Given the description of an element on the screen output the (x, y) to click on. 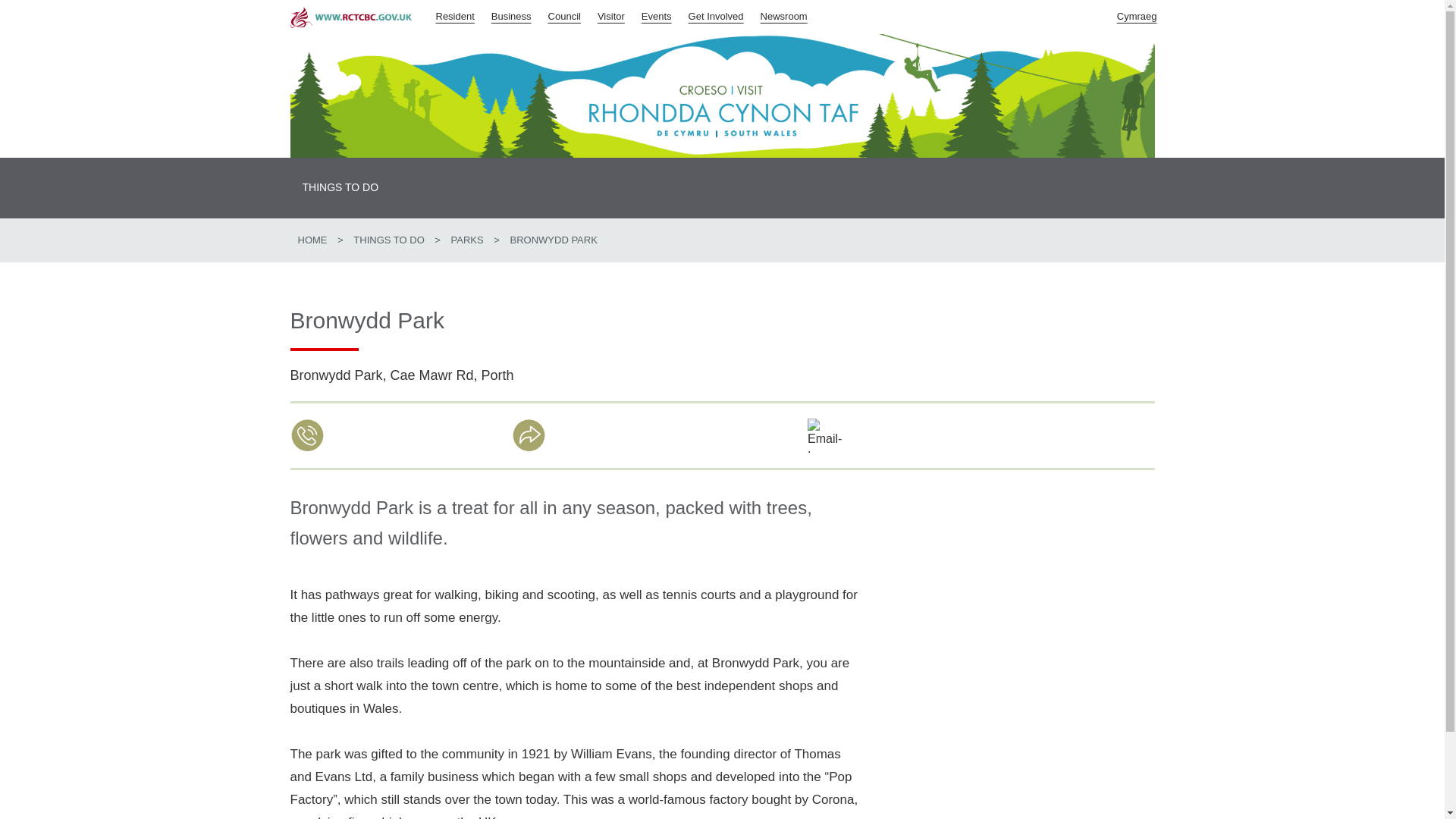
Events (657, 15)
Visitor (611, 15)
Cymraeg (1137, 15)
Council (564, 15)
Resident (455, 15)
Go to Things to do from here (339, 188)
HOME (311, 239)
Business (511, 15)
THINGS TO DO (388, 239)
Get Involved (716, 15)
THINGS TO DO (339, 188)
Home (311, 239)
PARKS (467, 239)
Newsroom (784, 15)
Go to Parks from here (467, 239)
